Given the description of an element on the screen output the (x, y) to click on. 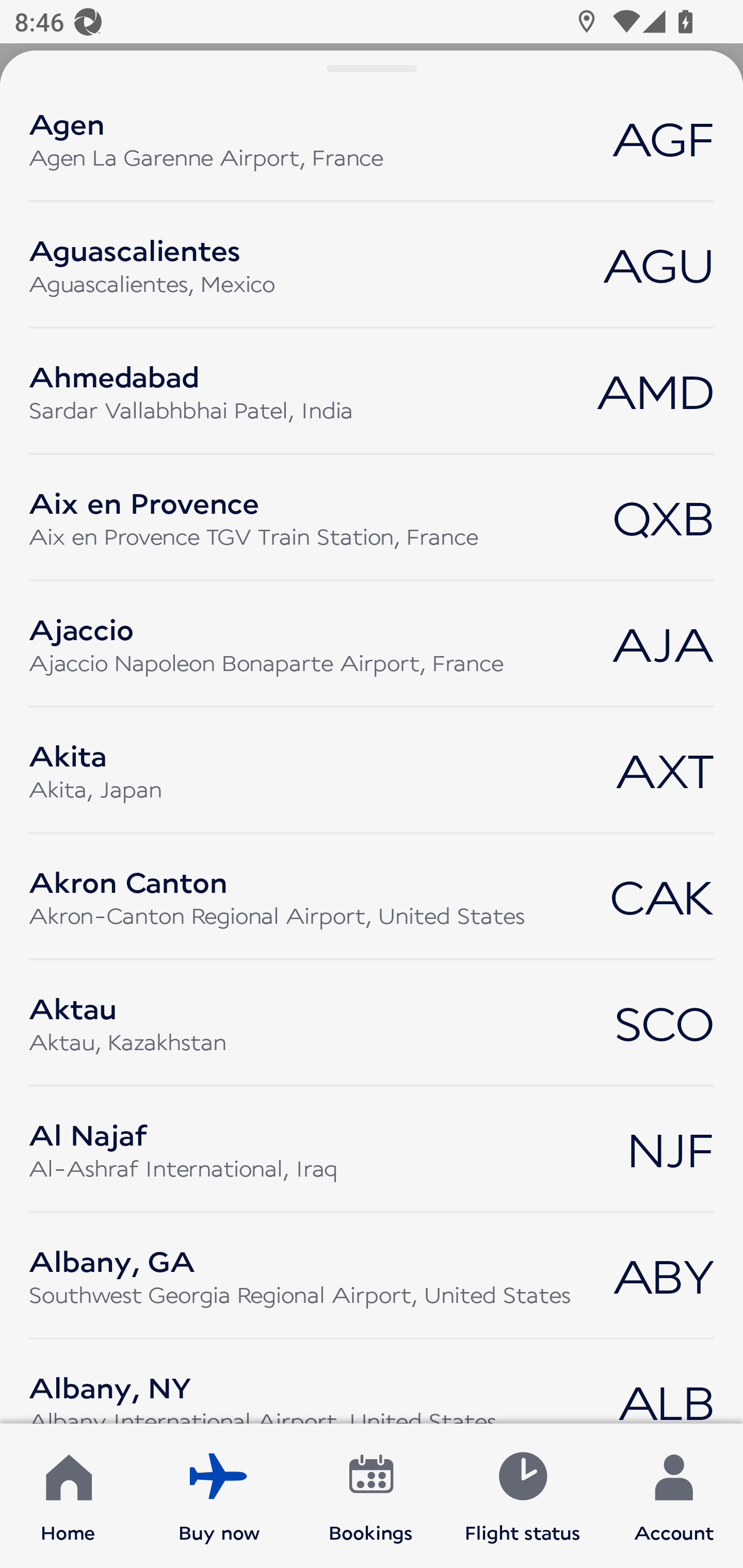
Agen Agen La Garenne Airport, France AGF (371, 138)
Aguascalientes Aguascalientes, Mexico AGU (371, 264)
Ahmedabad Sardar Vallabhbhai Patel, India AMD (371, 391)
Akita Akita, Japan AXT (371, 769)
Aktau Aktau, Kazakhstan SCO (371, 1023)
Al Najaf Al-Ashraf International, Iraq NJF (371, 1149)
Home (68, 1495)
Bookings (370, 1495)
Flight status (522, 1495)
Account (674, 1495)
